Given the description of an element on the screen output the (x, y) to click on. 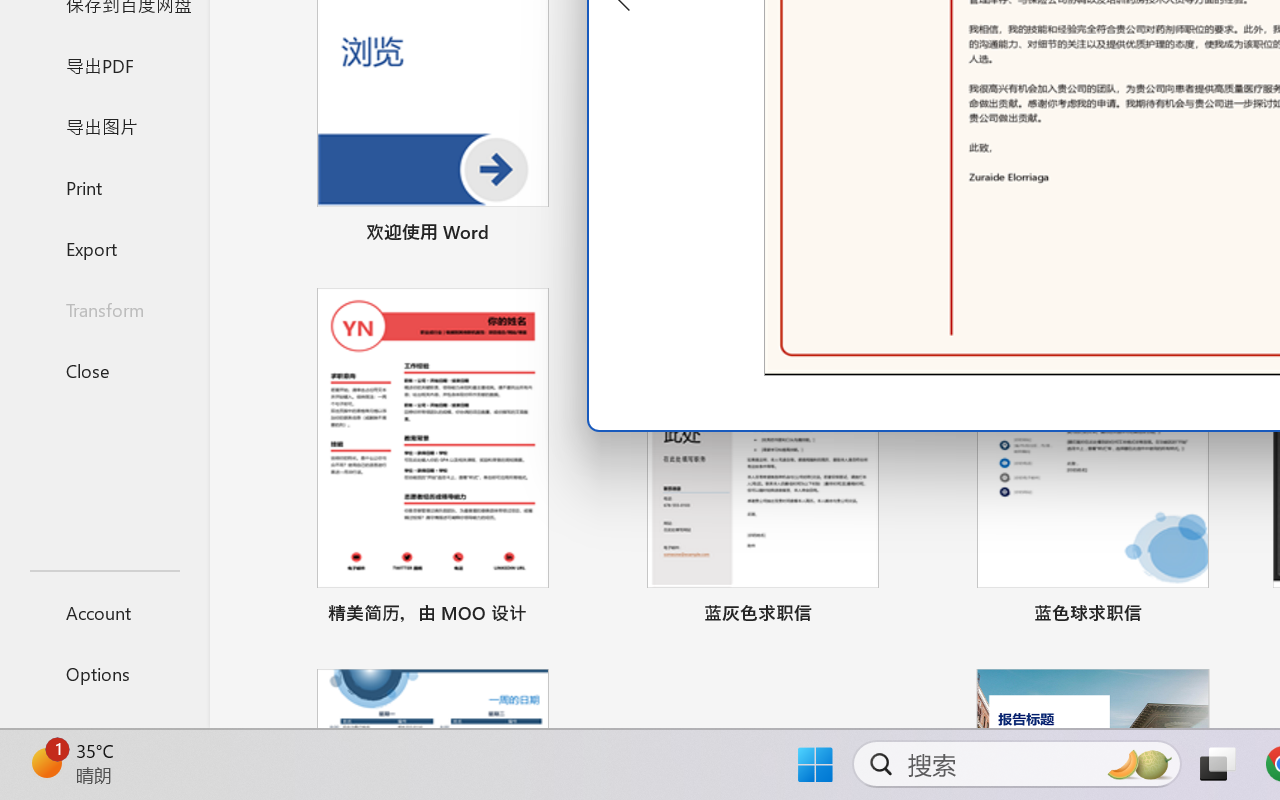
Transform (104, 309)
